Given the description of an element on the screen output the (x, y) to click on. 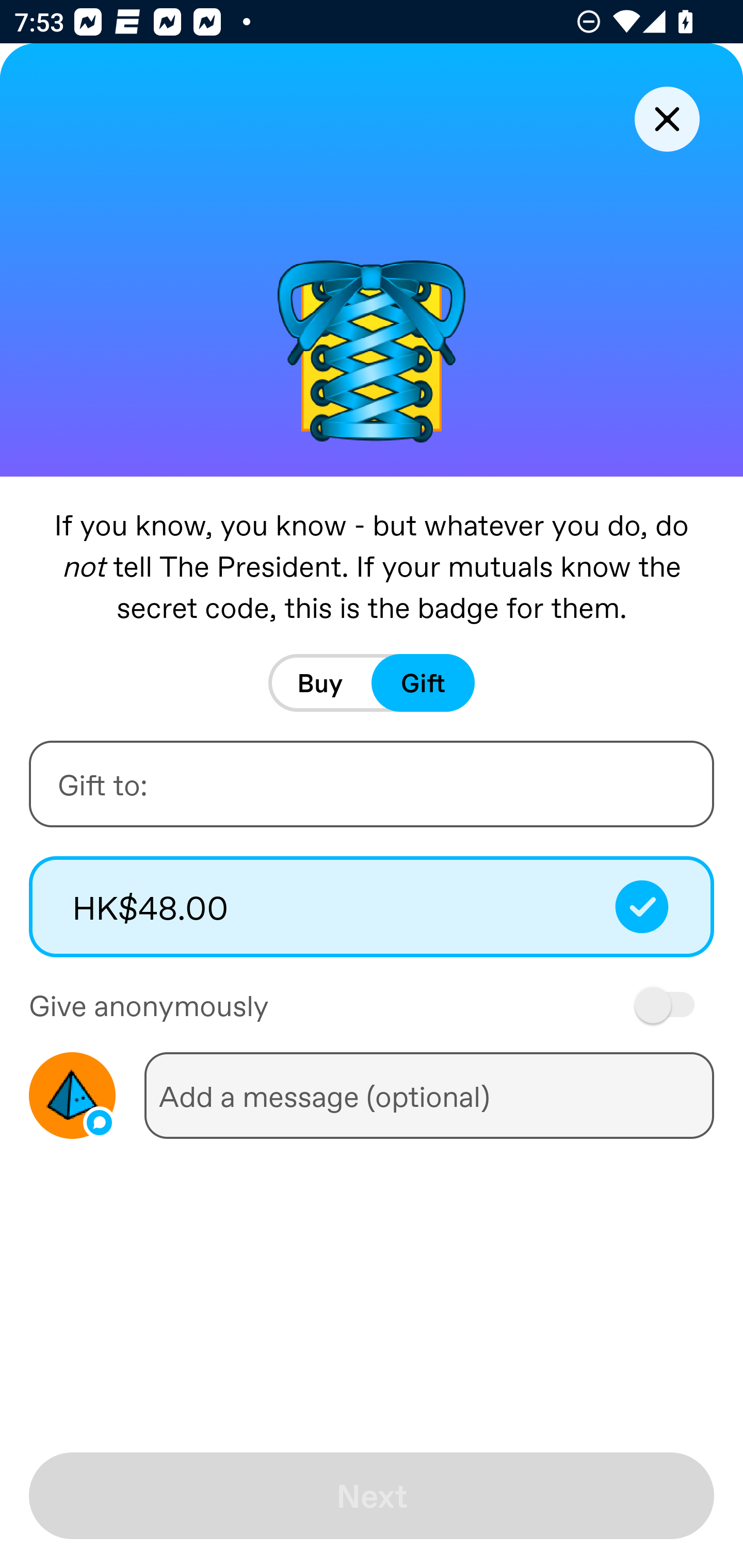
Buy (319, 682)
Gift (423, 682)
Gift to: (371, 783)
Add a message (optional) (429, 1095)
Next (371, 1495)
